Given the description of an element on the screen output the (x, y) to click on. 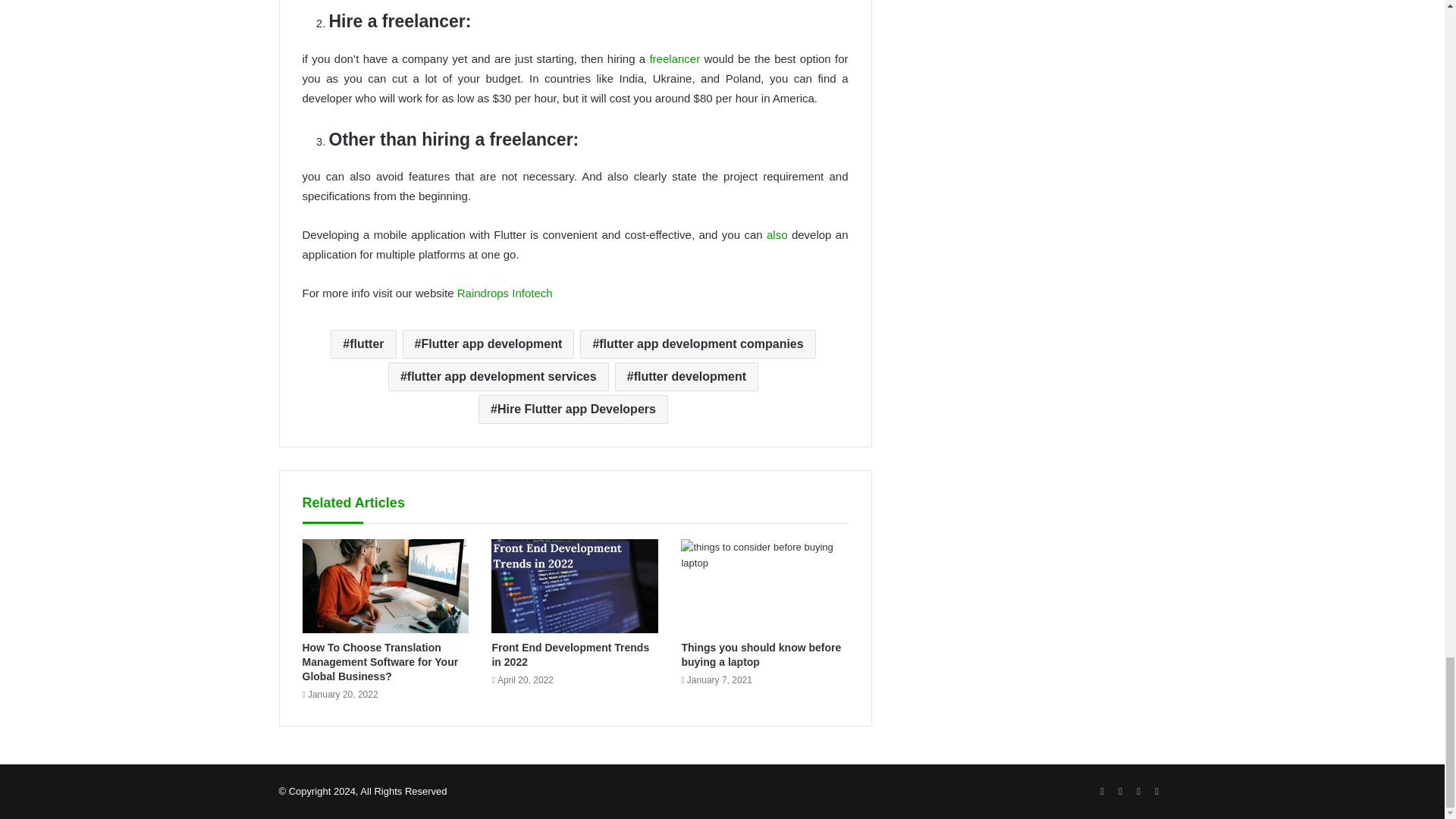
flutter development (686, 376)
Flutter app development (489, 344)
Raindrops Infotech (505, 292)
freelancer (674, 58)
flutter app development companies (697, 344)
also (777, 234)
Hire Flutter app Developers (573, 409)
flutter app development services (498, 376)
flutter (363, 344)
